Given the description of an element on the screen output the (x, y) to click on. 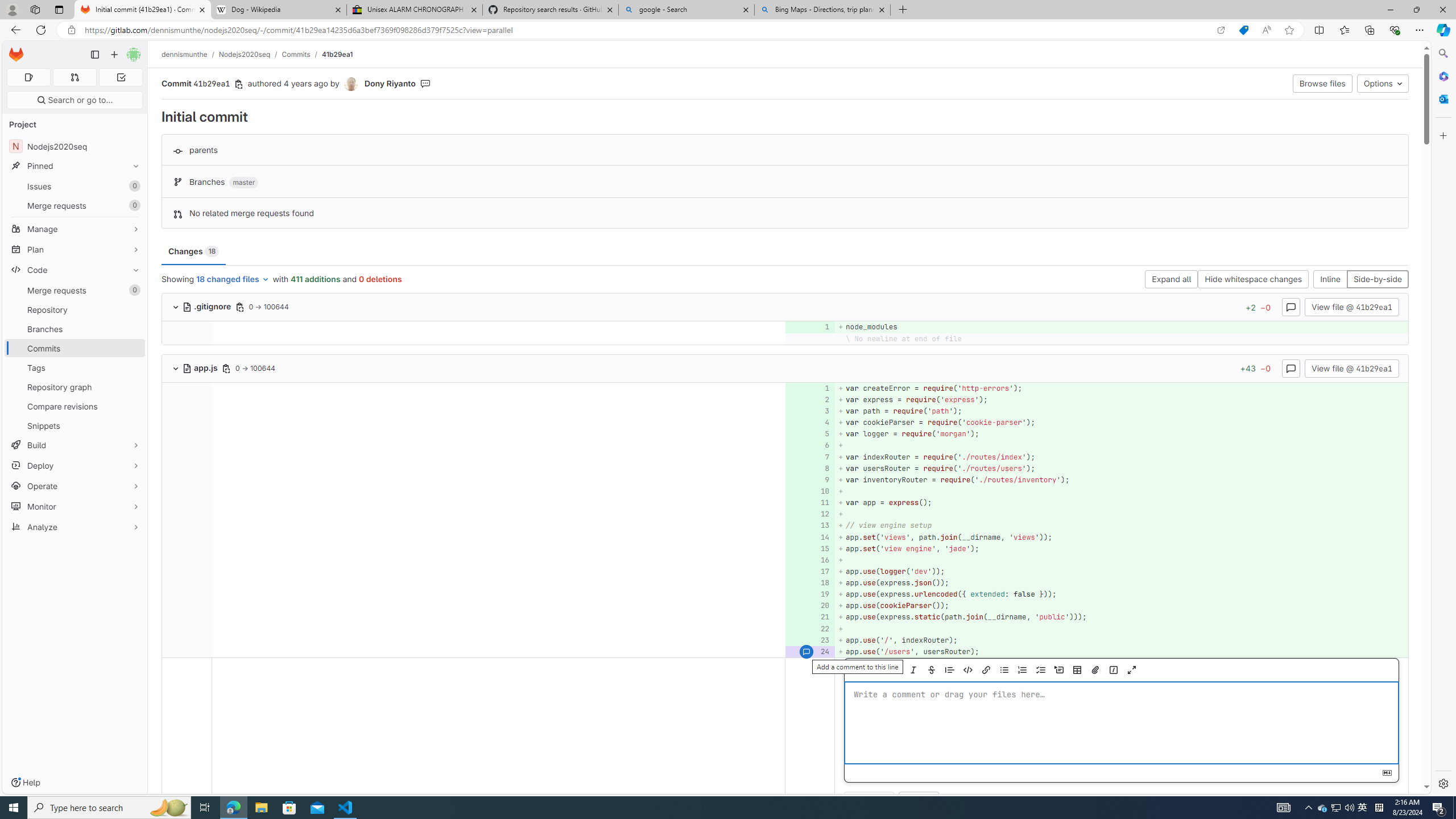
Pin Compare revisions (132, 406)
+ app.use(express.json());  (1120, 582)
master (243, 182)
Nodejs2020seq (244, 53)
Compare revisions (74, 406)
Commits (295, 53)
Primary navigation sidebar (94, 54)
Insert a quote (949, 670)
11 (808, 503)
Class: notes-content parallel old (497, 737)
Add a comment to this line 21 (809, 617)
Add a comment to this line 5 (809, 434)
